Given the description of an element on the screen output the (x, y) to click on. 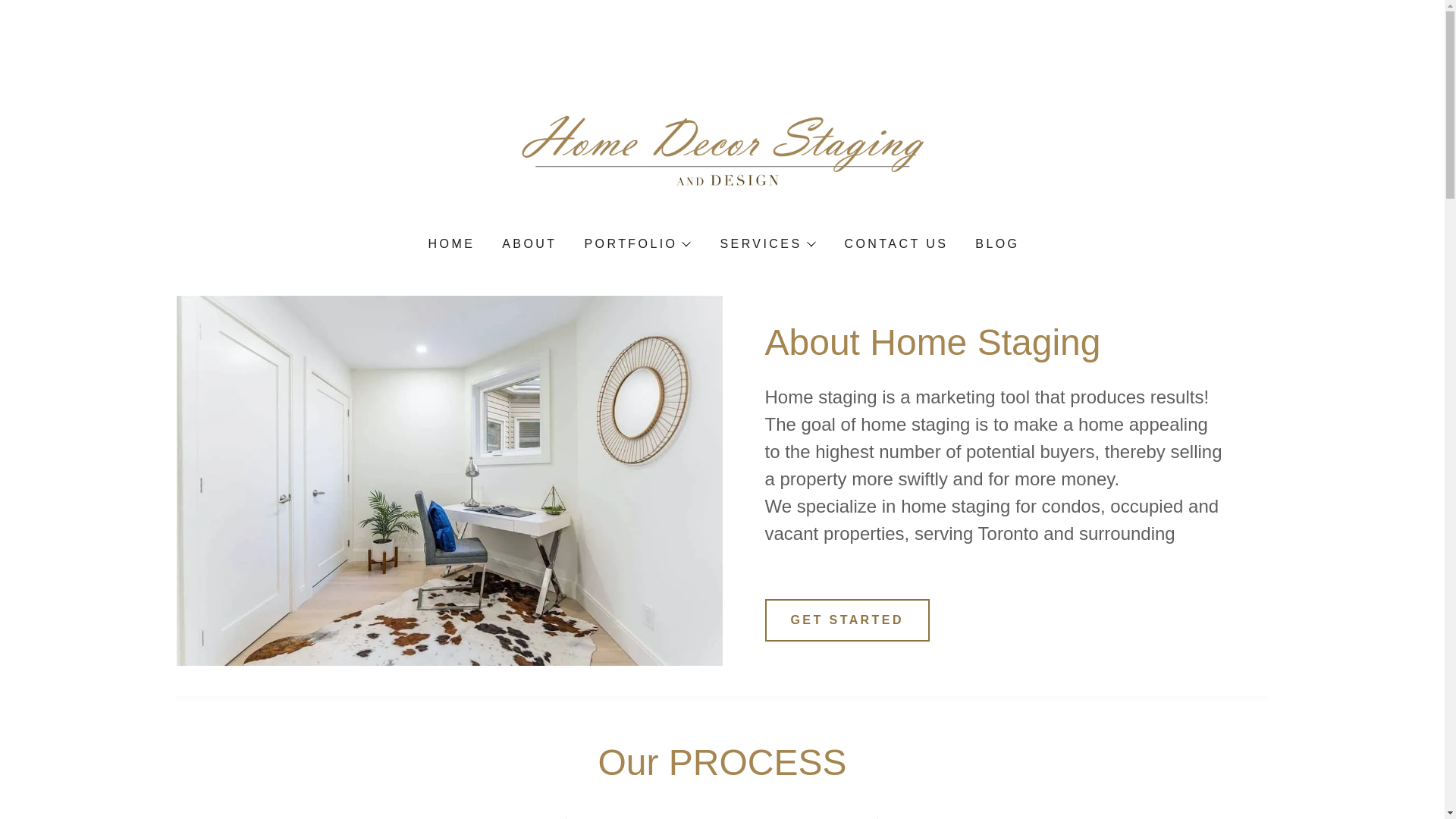
SERVICES (766, 244)
PORTFOLIO (636, 244)
BLOG (995, 243)
Home Decor and Staging (721, 140)
CONTACT US (895, 243)
ABOUT (527, 243)
HOME (450, 243)
